Given the description of an element on the screen output the (x, y) to click on. 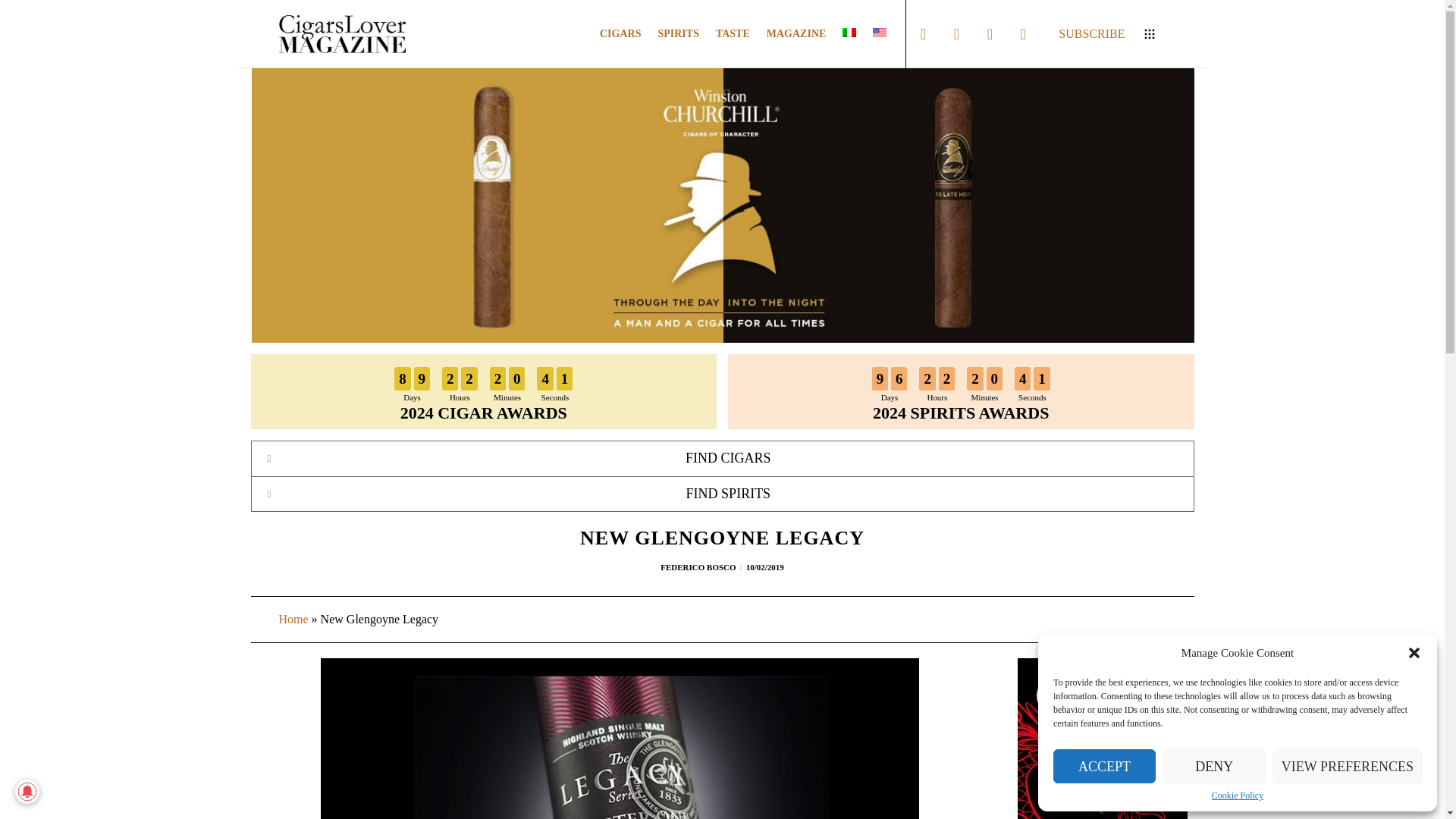
FIND CIGARS (721, 457)
Seconds (555, 397)
Hours (936, 397)
Minutes (507, 397)
Days (412, 397)
FIND SPIRITS (721, 493)
SUBSCRIBE (1095, 33)
Seconds (1032, 397)
VIEW PREFERENCES (482, 391)
